Given the description of an element on the screen output the (x, y) to click on. 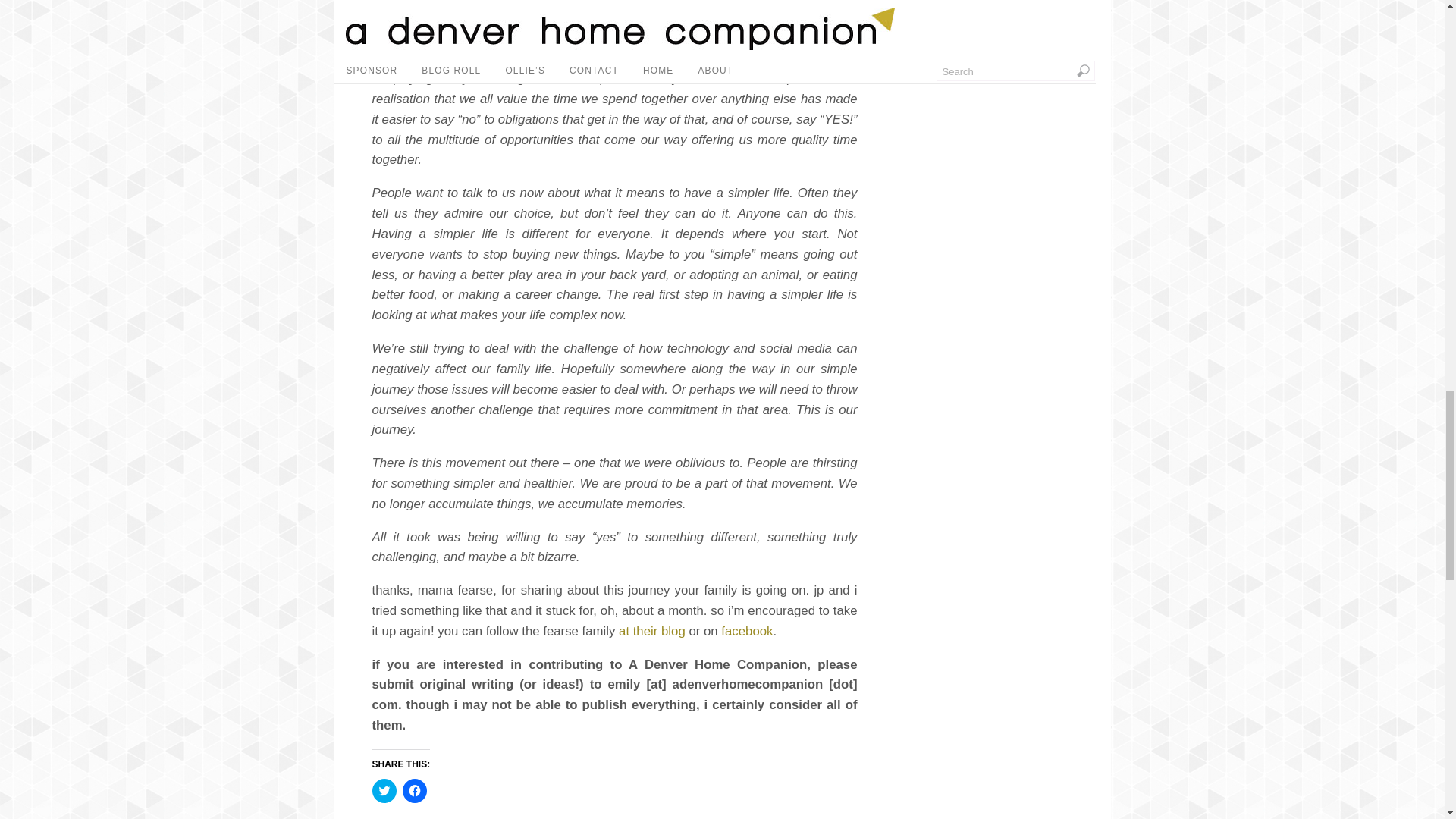
Click to share on Facebook (413, 790)
Click to share on Twitter (383, 790)
at their blog (651, 631)
facebook (746, 631)
